Given the description of an element on the screen output the (x, y) to click on. 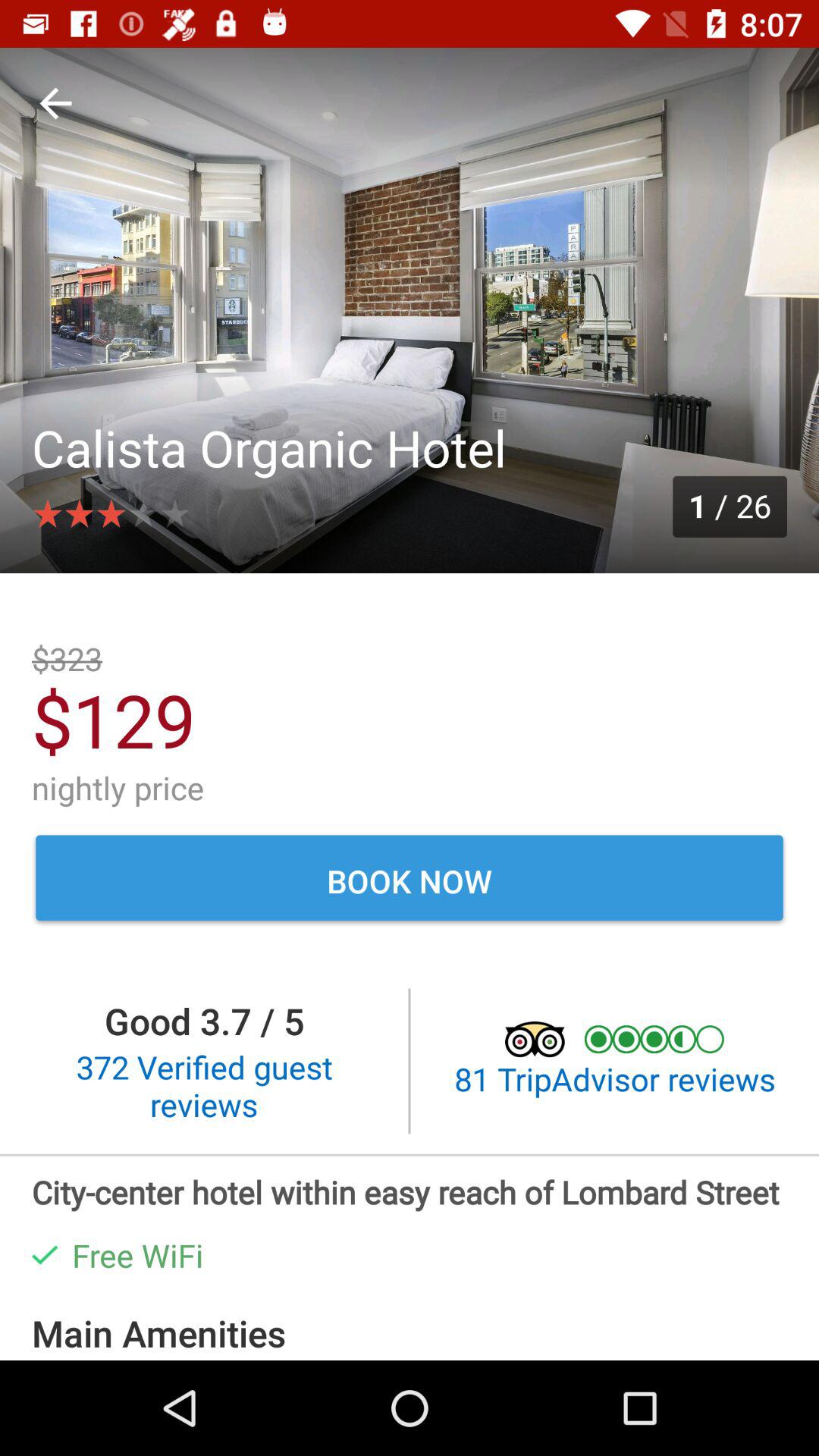
open icon above the calista organic hotel item (55, 103)
